Given the description of an element on the screen output the (x, y) to click on. 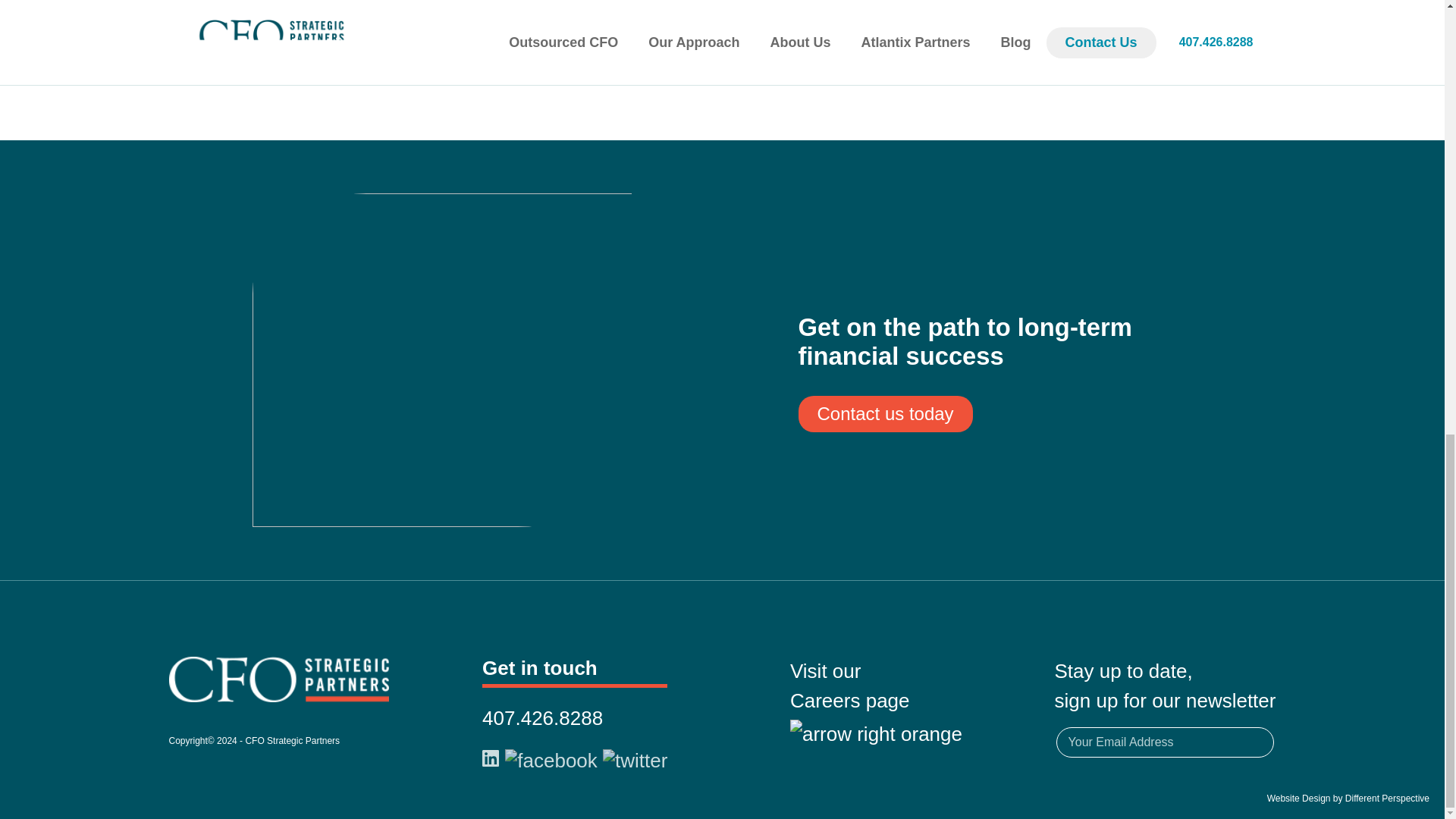
Contact us today (884, 413)
Different Perspective (1387, 798)
407.426.8288 (876, 702)
